Given the description of an element on the screen output the (x, y) to click on. 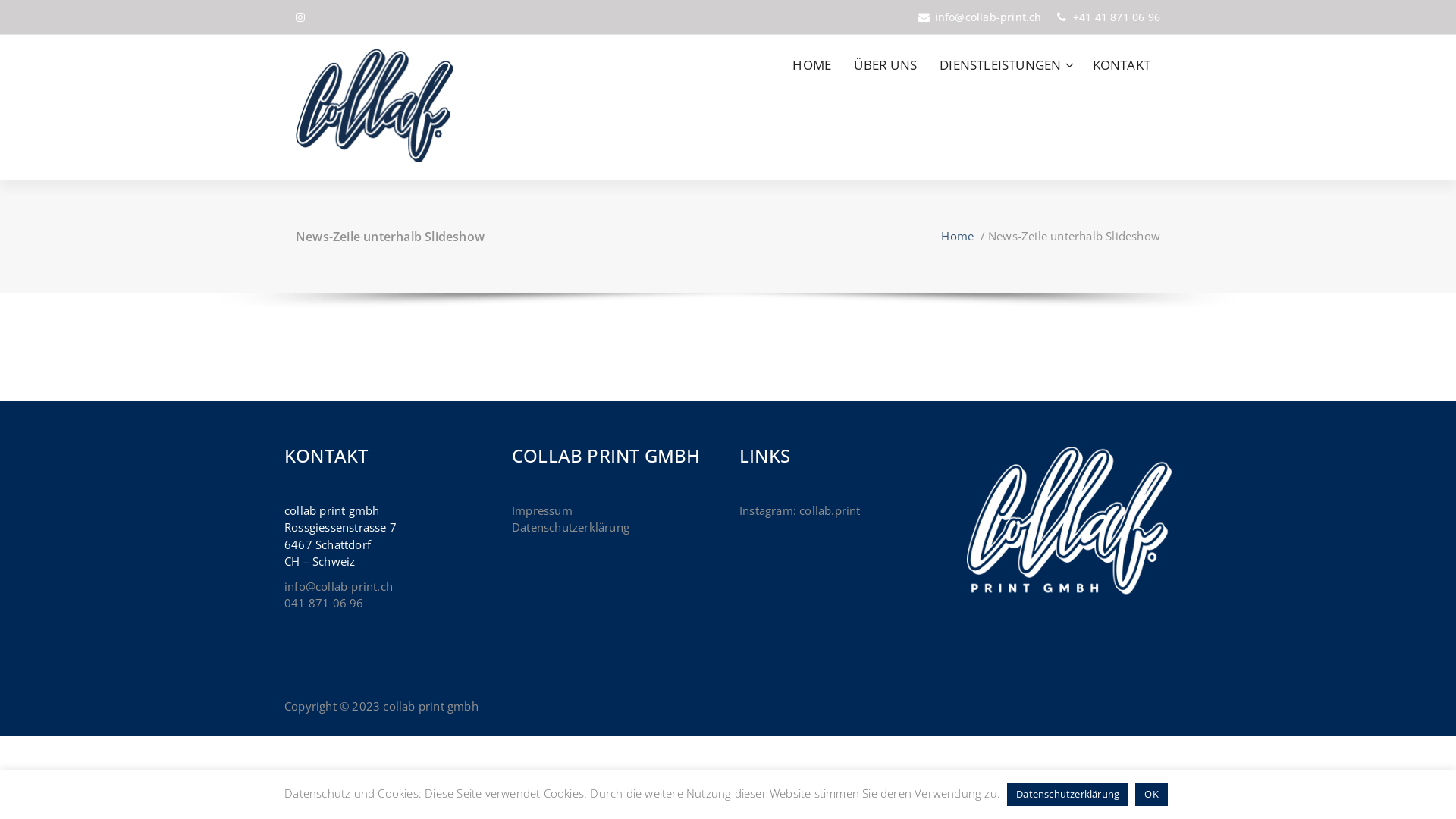
HOME Element type: text (811, 64)
info@collab-print.ch Element type: text (338, 585)
Instagram: collab.print Element type: text (799, 509)
041 871 06 96 Element type: text (324, 602)
Impressum Element type: text (541, 509)
DIENSTLEISTUNGEN Element type: text (1003, 64)
KONTAKT Element type: text (1121, 64)
OK Element type: text (1151, 794)
Home Element type: text (957, 234)
